Given the description of an element on the screen output the (x, y) to click on. 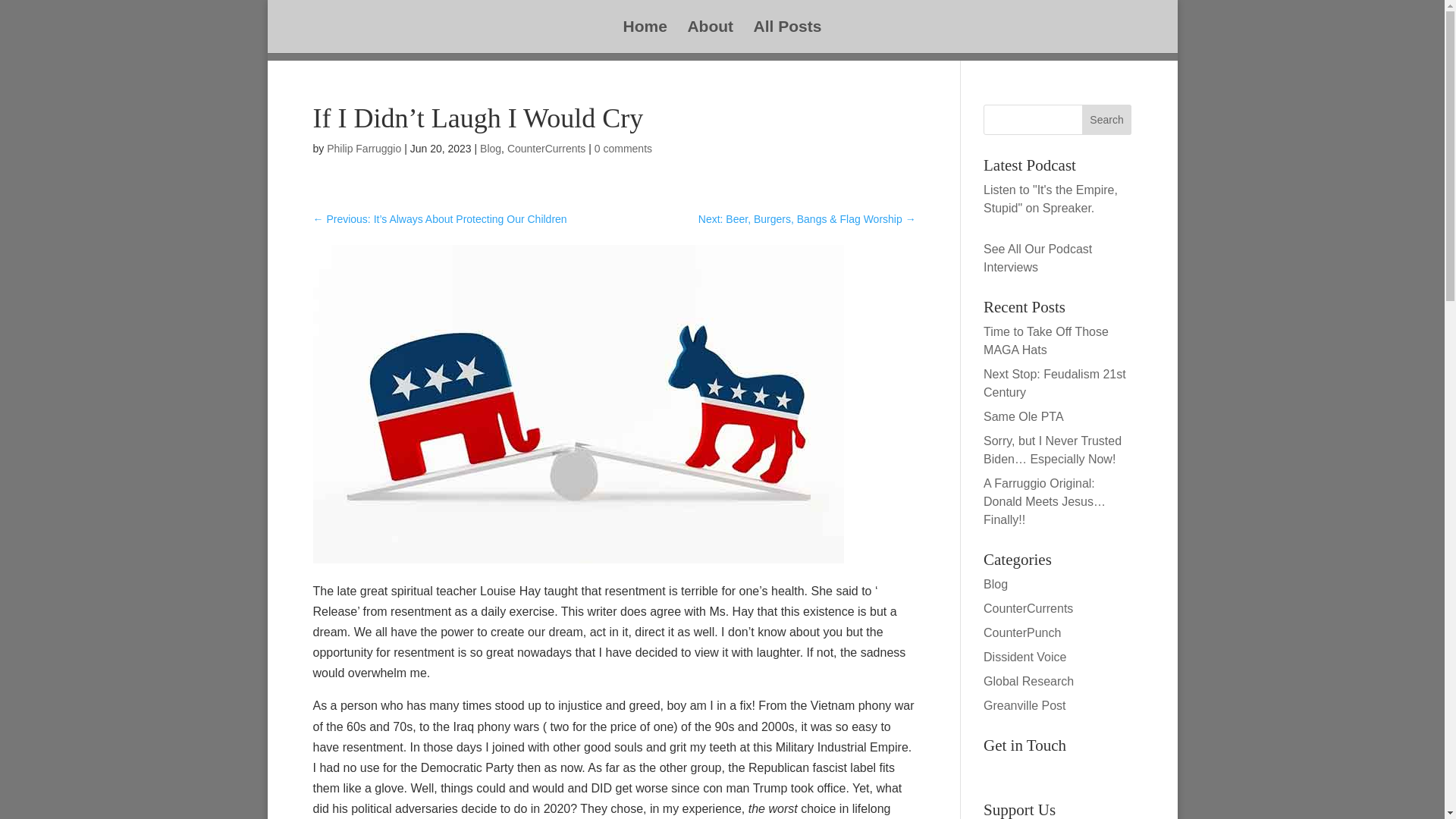
Posts by Philip Farruggio (363, 148)
Dissident Voice (1024, 656)
See All Our Podcast Interviews (1038, 257)
Time to Take Off Those MAGA Hats (1046, 340)
Home (644, 37)
Search (1106, 119)
Same Ole PTA (1024, 416)
Blog (995, 584)
CounterCurrents (546, 148)
Listen to "It's the Empire, Stupid" on Spreaker. (1051, 198)
